Given the description of an element on the screen output the (x, y) to click on. 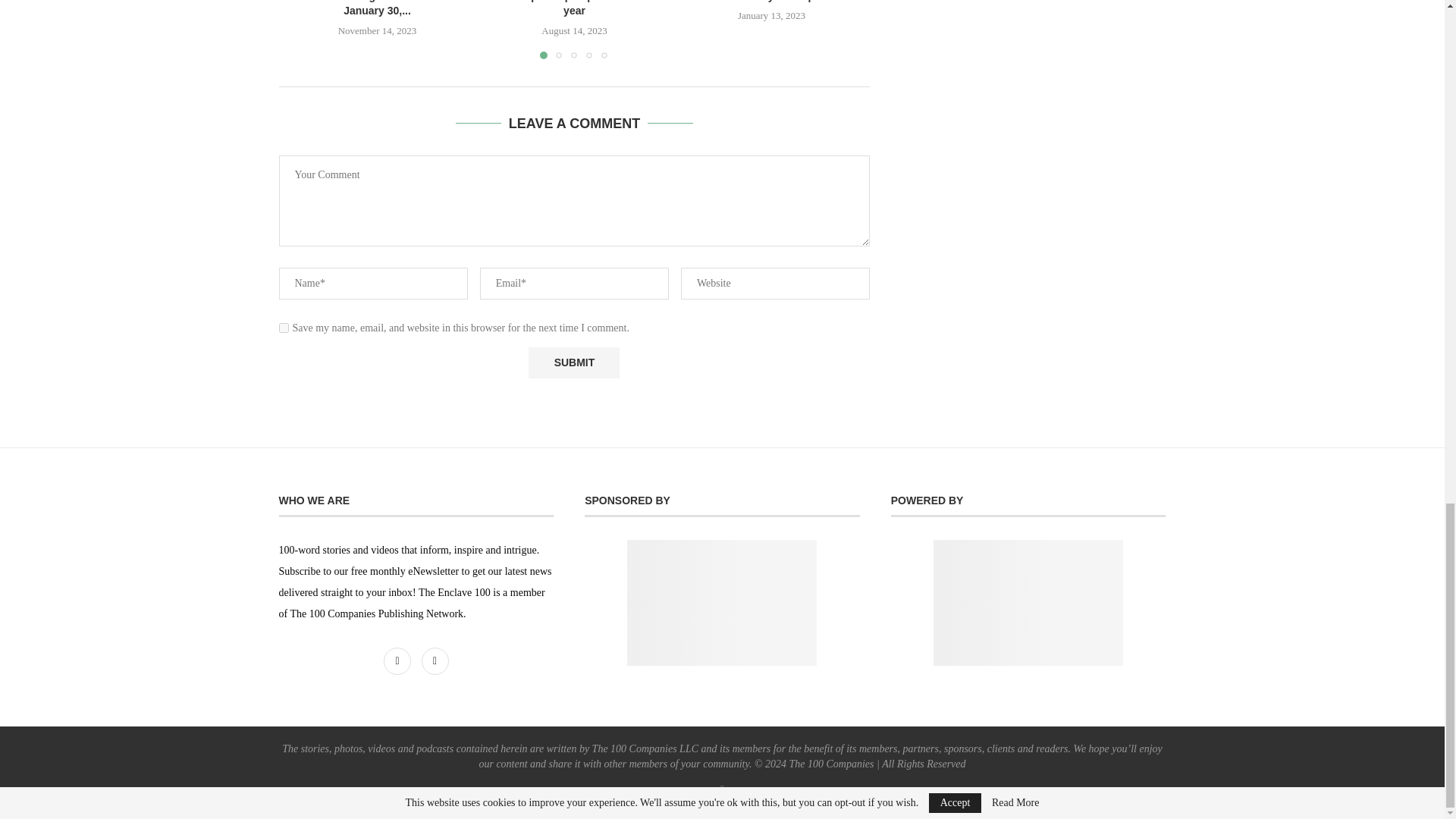
Annual picnic postponed to next year (574, 8)
Annual meeting set for Zoom on January 30,... (376, 8)
You can vote early on 4 open HOA... (771, 1)
yes (283, 327)
Submit (574, 362)
